Given the description of an element on the screen output the (x, y) to click on. 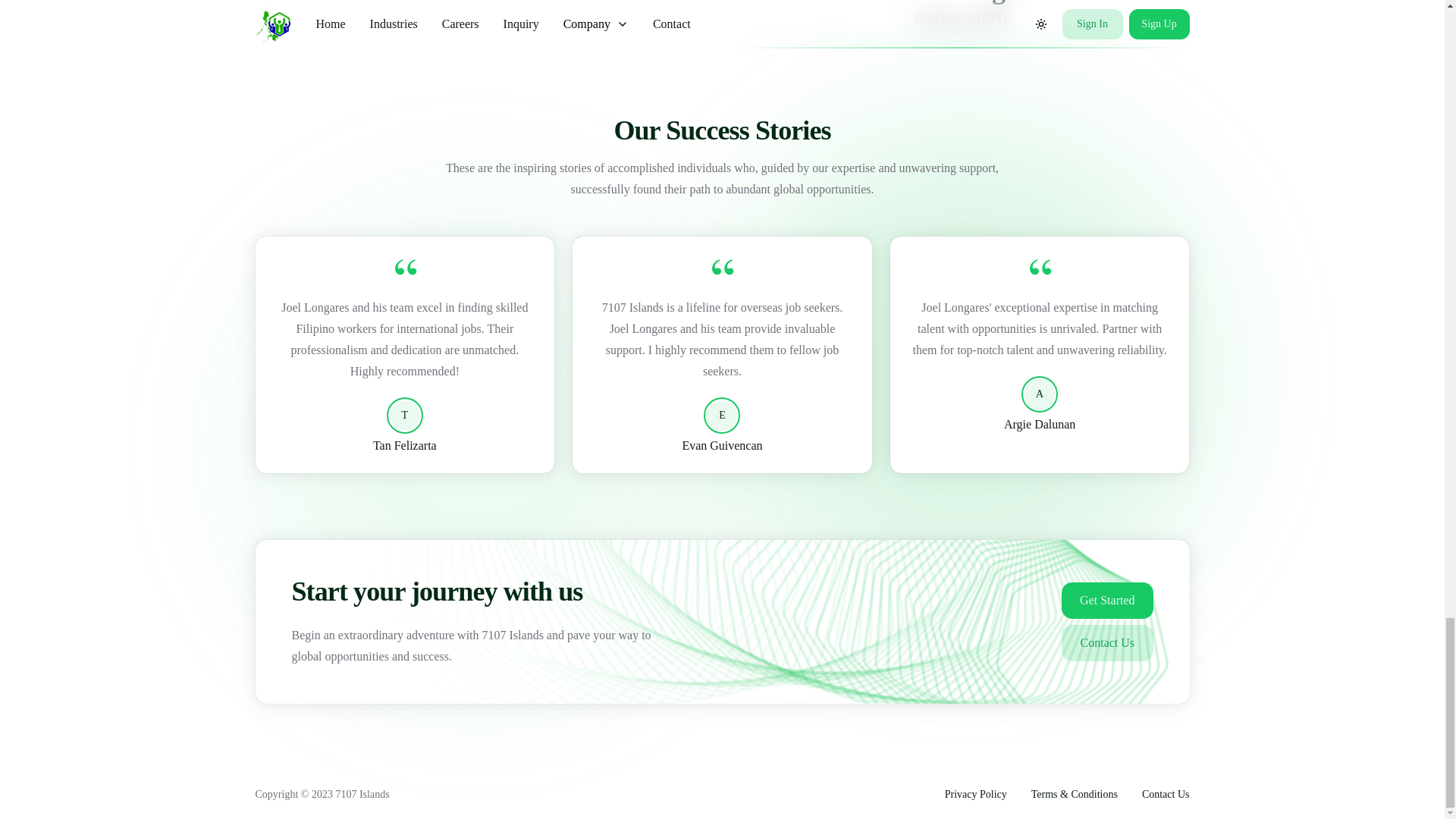
Contact Us (1165, 794)
Get Started (1107, 600)
Privacy Policy (975, 794)
Contact Us (1107, 642)
